Given the description of an element on the screen output the (x, y) to click on. 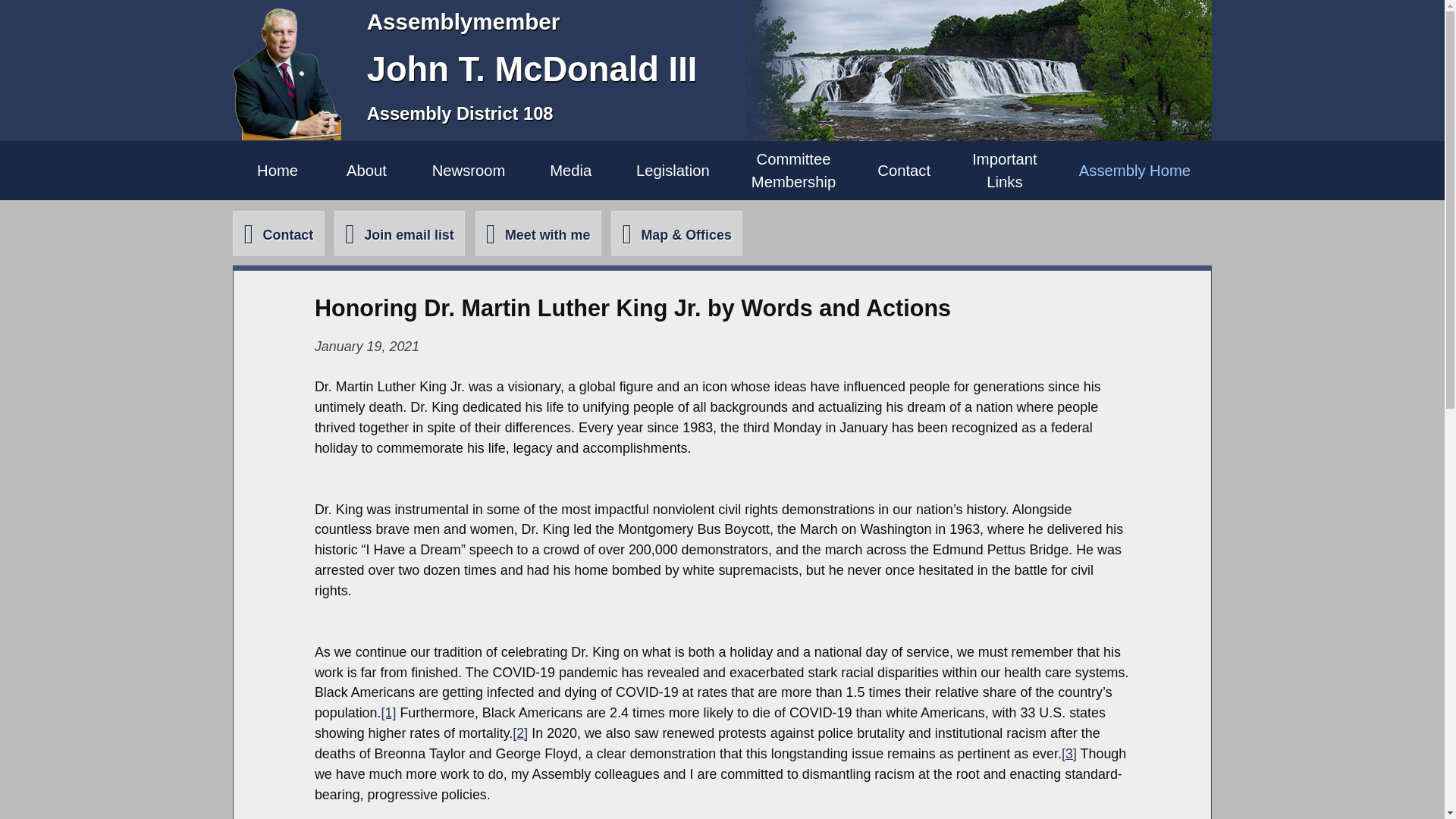
Contact (277, 232)
Legislation (1005, 169)
About (672, 169)
Newsroom (365, 169)
Meet with me (467, 169)
Media (538, 232)
Contact (793, 169)
Join email list (569, 169)
Home (904, 169)
Assembly Home (399, 232)
